Given the description of an element on the screen output the (x, y) to click on. 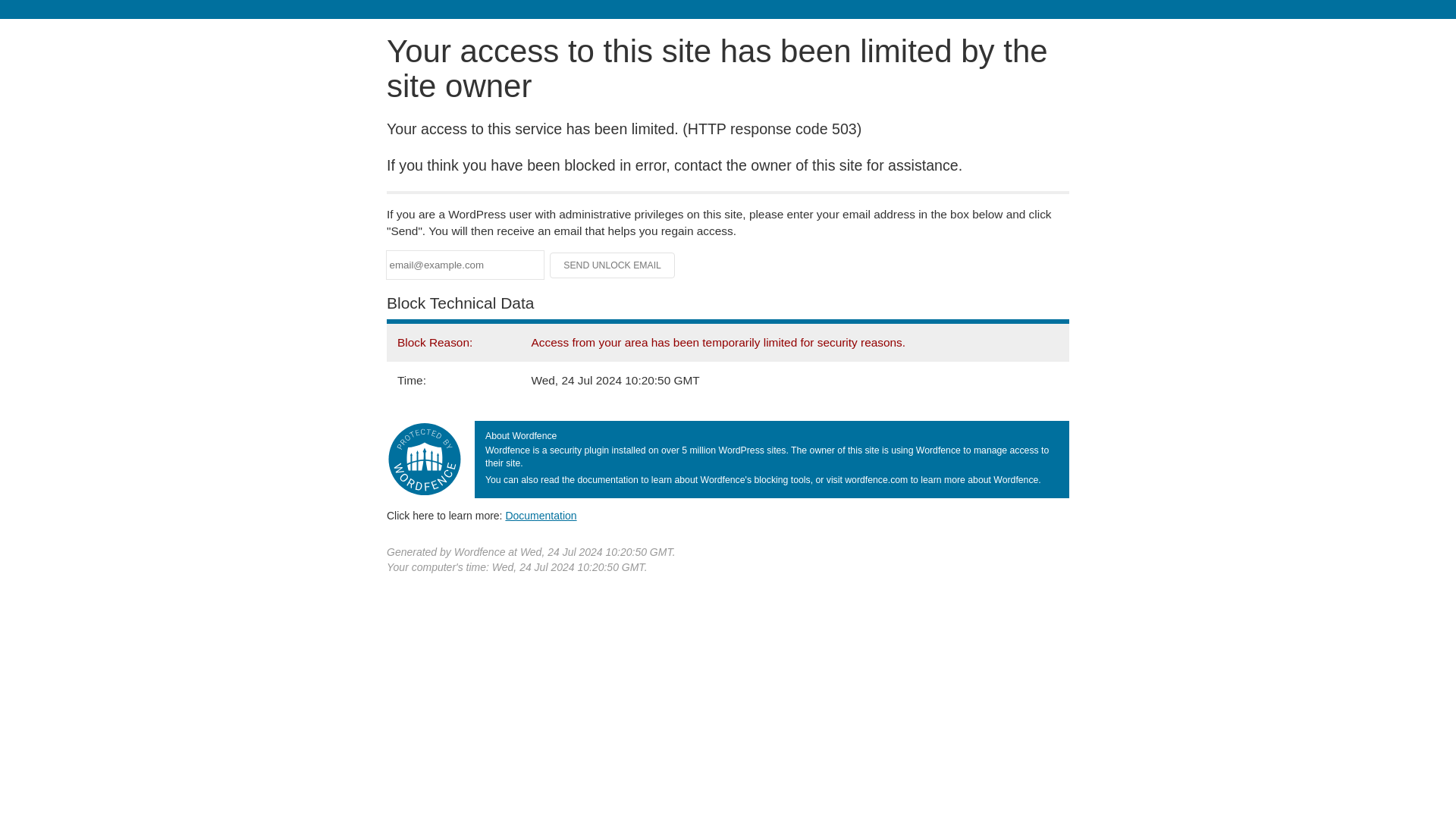
Send Unlock Email (612, 265)
Documentation (540, 515)
Send Unlock Email (612, 265)
